Given the description of an element on the screen output the (x, y) to click on. 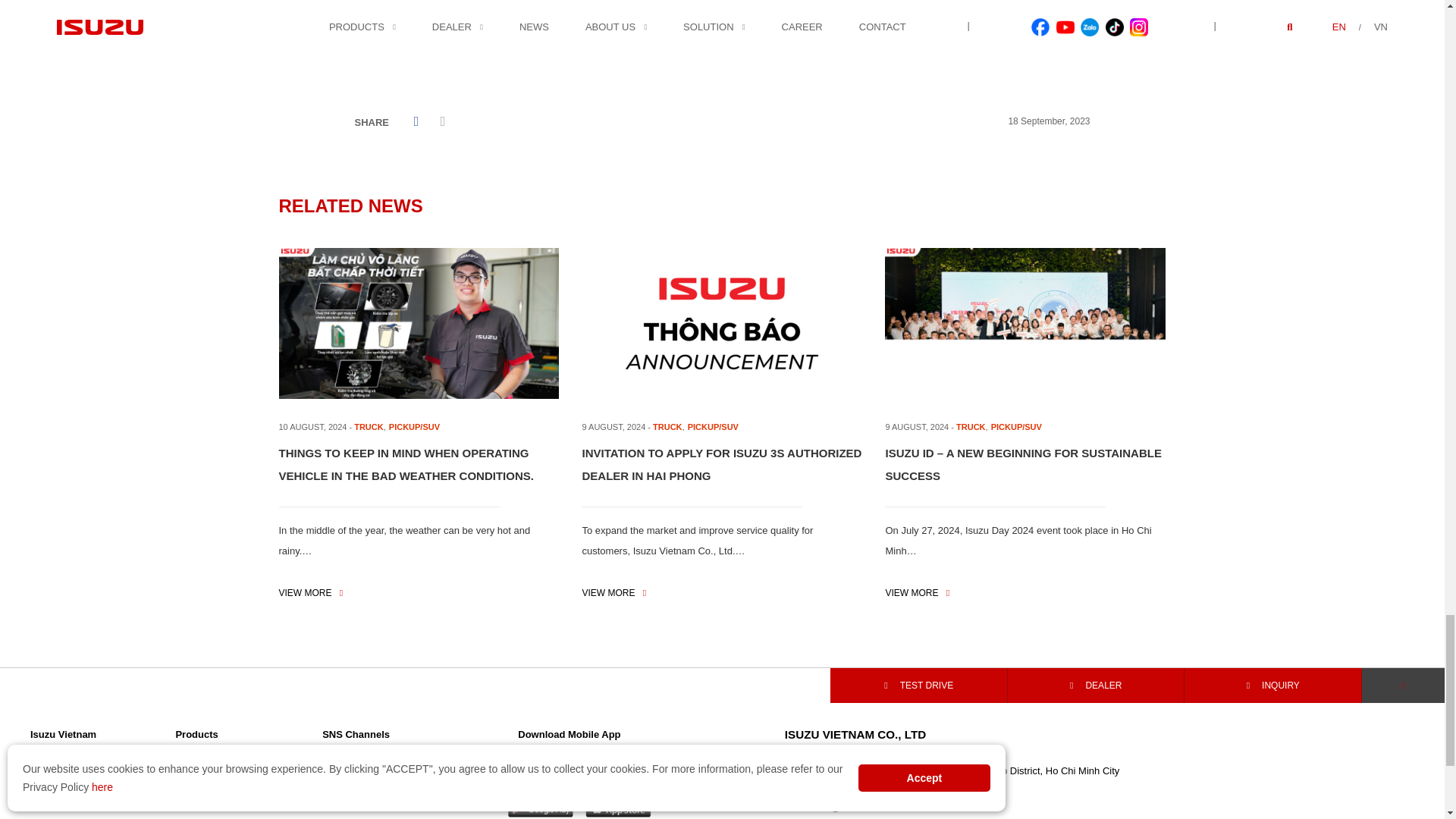
TRUCK (368, 426)
